Given the description of an element on the screen output the (x, y) to click on. 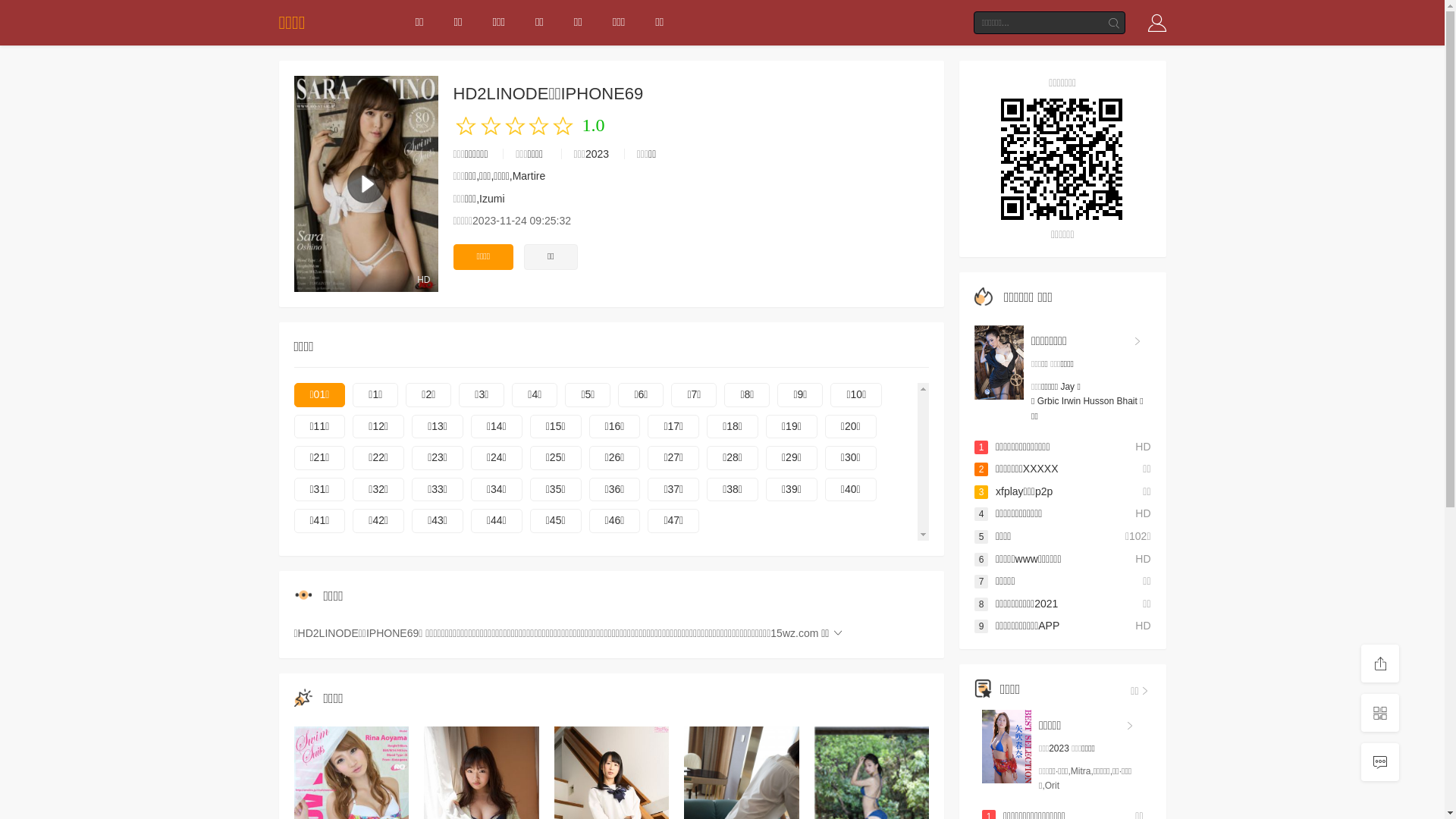
http://www.15wz.com/jiaocheng/3539.html Element type: hover (1062, 158)
Bhait Element type: text (1126, 400)
Husson Element type: text (1097, 400)
HD Element type: text (366, 183)
Grbic Element type: text (1048, 400)
2023 Element type: text (596, 153)
2023 Element type: text (1058, 748)
Jay Element type: text (1067, 386)
Irwin Element type: text (1070, 400)
